Given the description of an element on the screen output the (x, y) to click on. 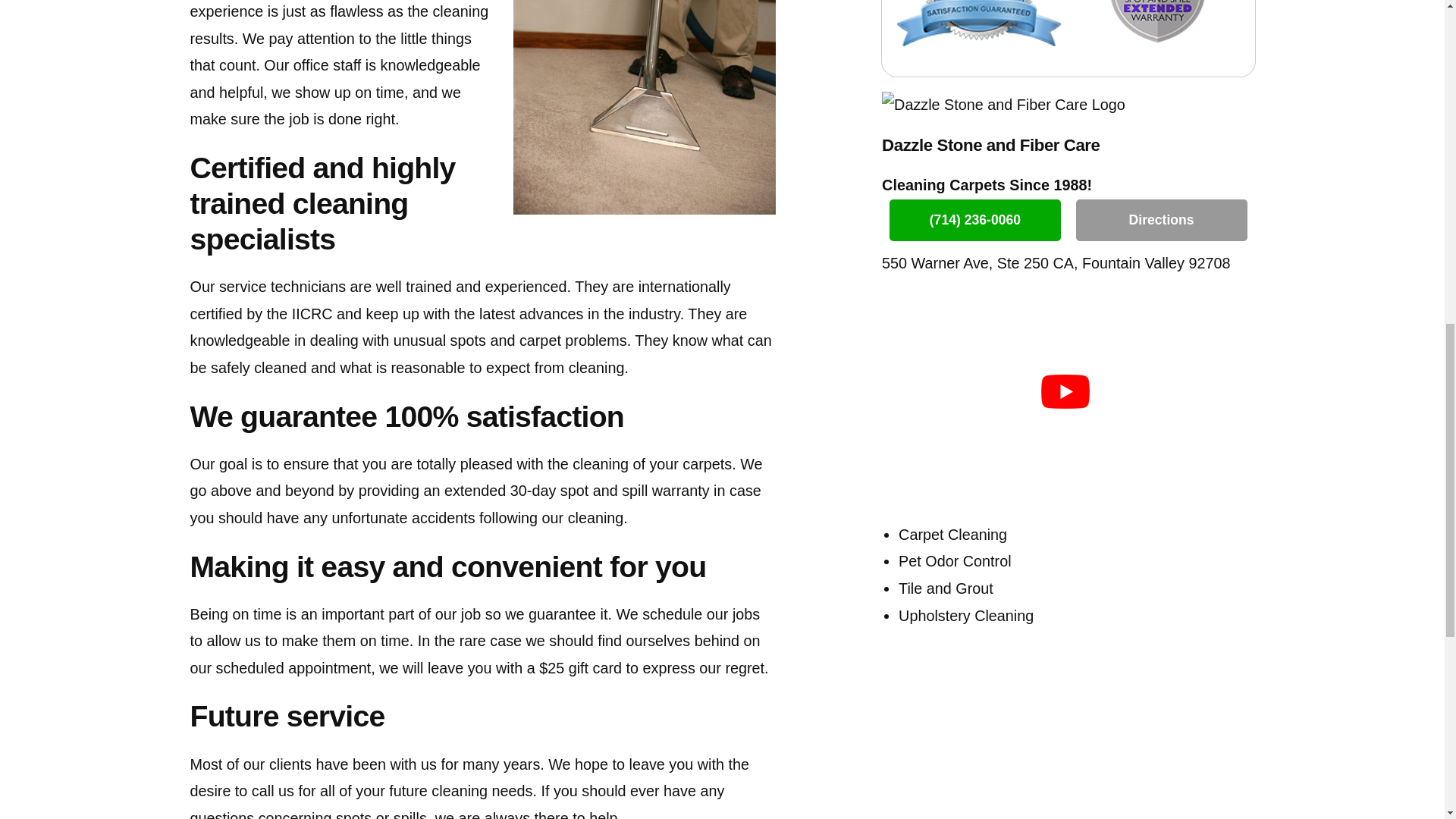
Spot and Spill Warranty (1157, 34)
Laguna Beach Local Carpet Cleaning Professional (644, 106)
Directions (1161, 219)
